Given the description of an element on the screen output the (x, y) to click on. 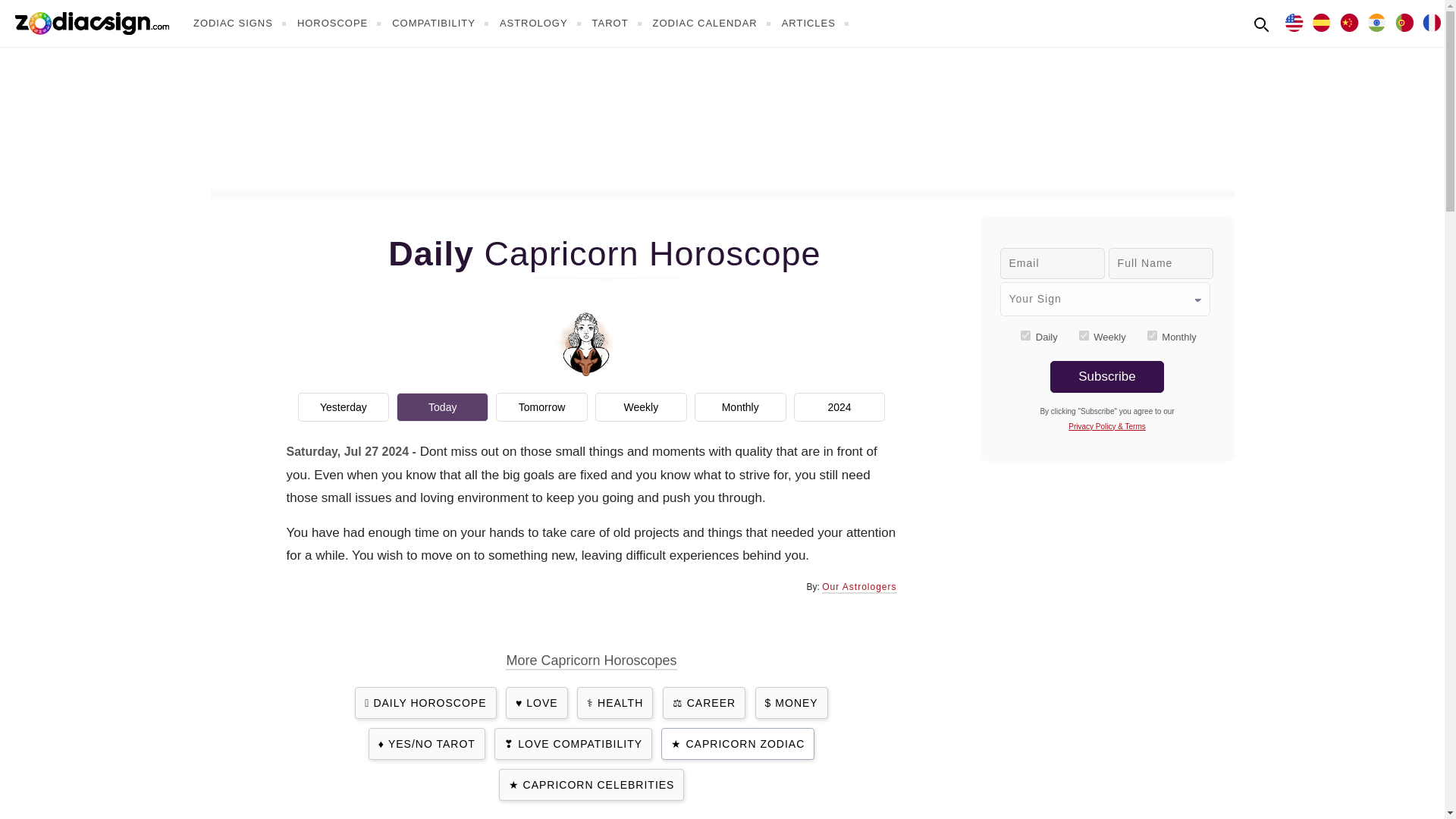
daily (1025, 335)
ZODIAC SIGNS (241, 23)
In English (1294, 21)
HOROSCOPE (341, 23)
weekly (1083, 335)
monthly (1152, 335)
